Given the description of an element on the screen output the (x, y) to click on. 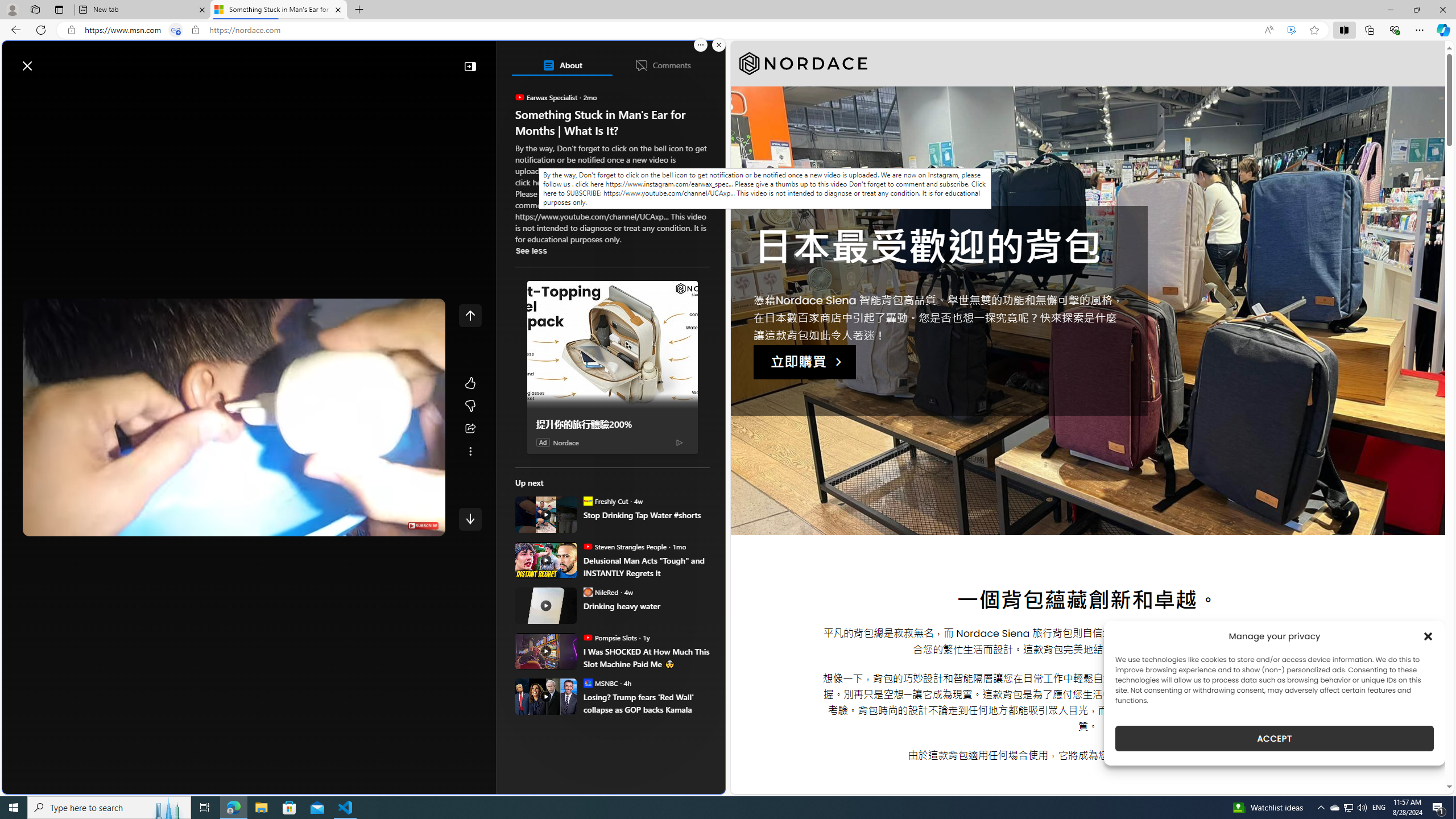
Something Stuck in Man's Ear for Months | What Is It? (277, 9)
Class: control icon-only (469, 315)
Nordace (803, 63)
Tab actions menu (58, 9)
Full screen (f) (427, 525)
Freshly Cut (587, 500)
Compact and Stylish (616, 163)
Collections (1369, 29)
Delusional Man Acts "Tough" and INSTANTLY Regrets It (646, 566)
AutomationID: e5rZOEMGacU1 (469, 518)
Split screen (1344, 29)
Drinking heavy water (646, 605)
Discover (47, 92)
Following (97, 92)
